Given the description of an element on the screen output the (x, y) to click on. 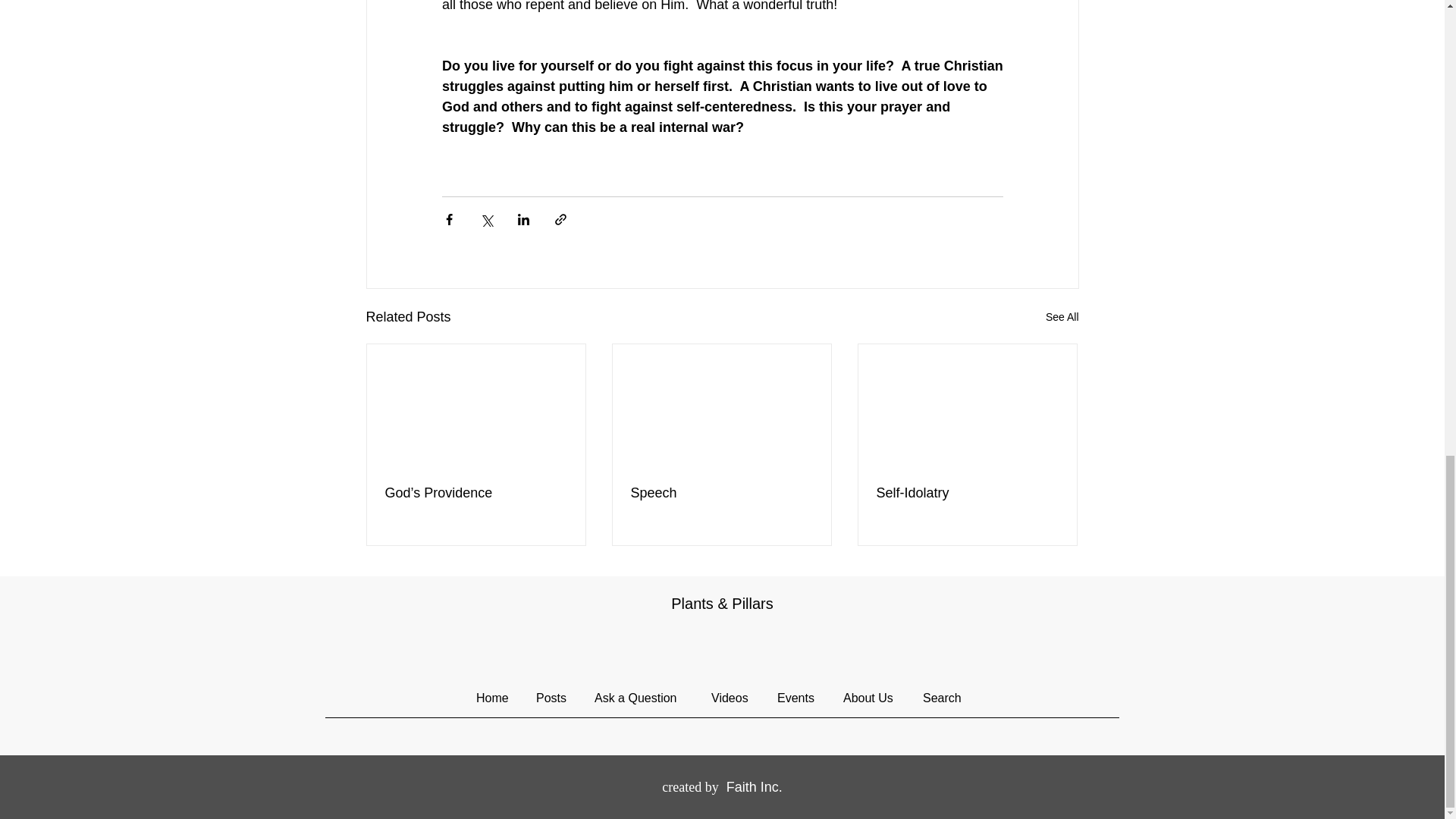
Speech (721, 493)
Self-Idolatry (967, 493)
Home (494, 698)
Posts (553, 698)
See All (1061, 317)
